Given the description of an element on the screen output the (x, y) to click on. 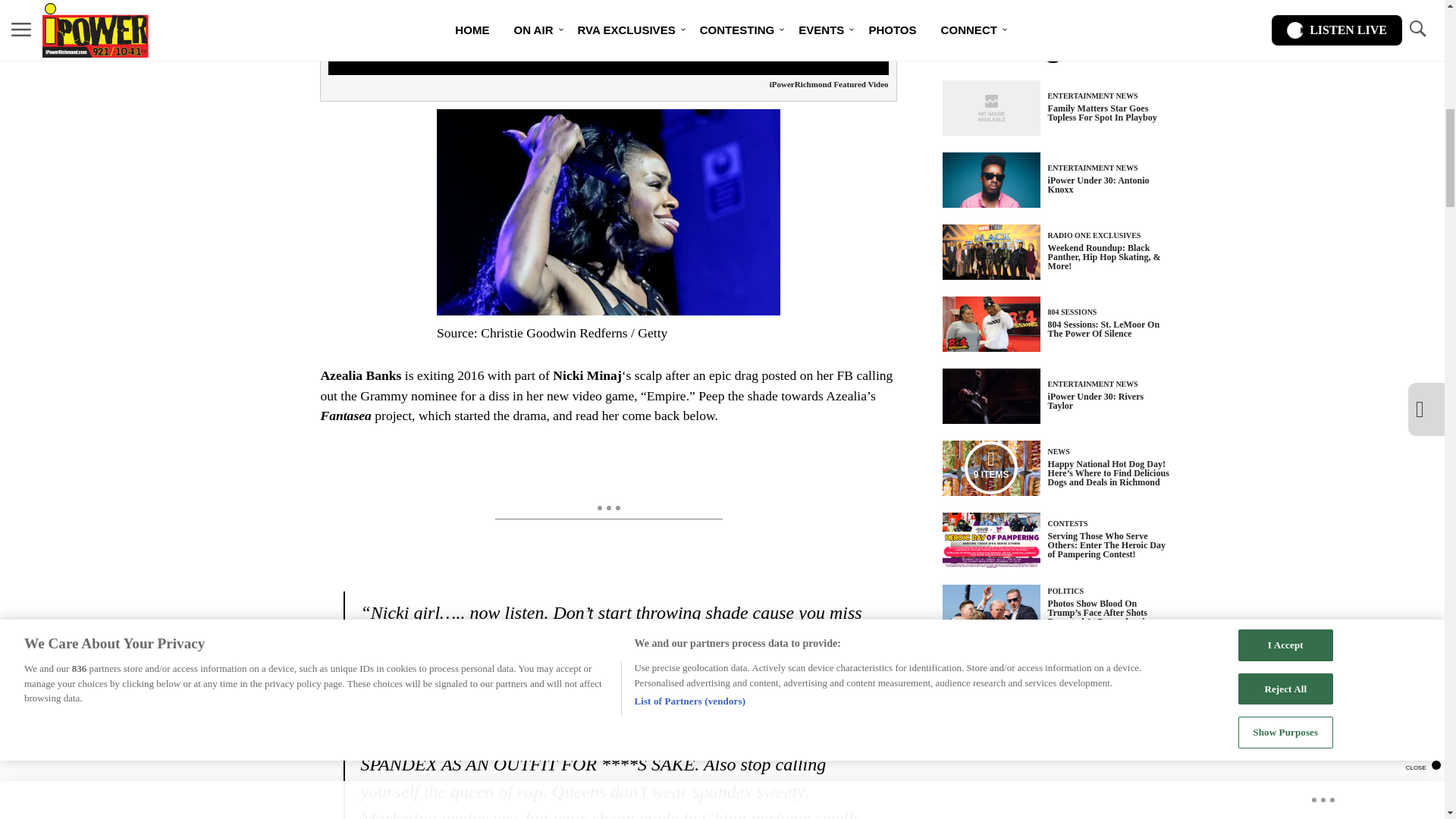
Media Playlist (990, 467)
